Given the description of an element on the screen output the (x, y) to click on. 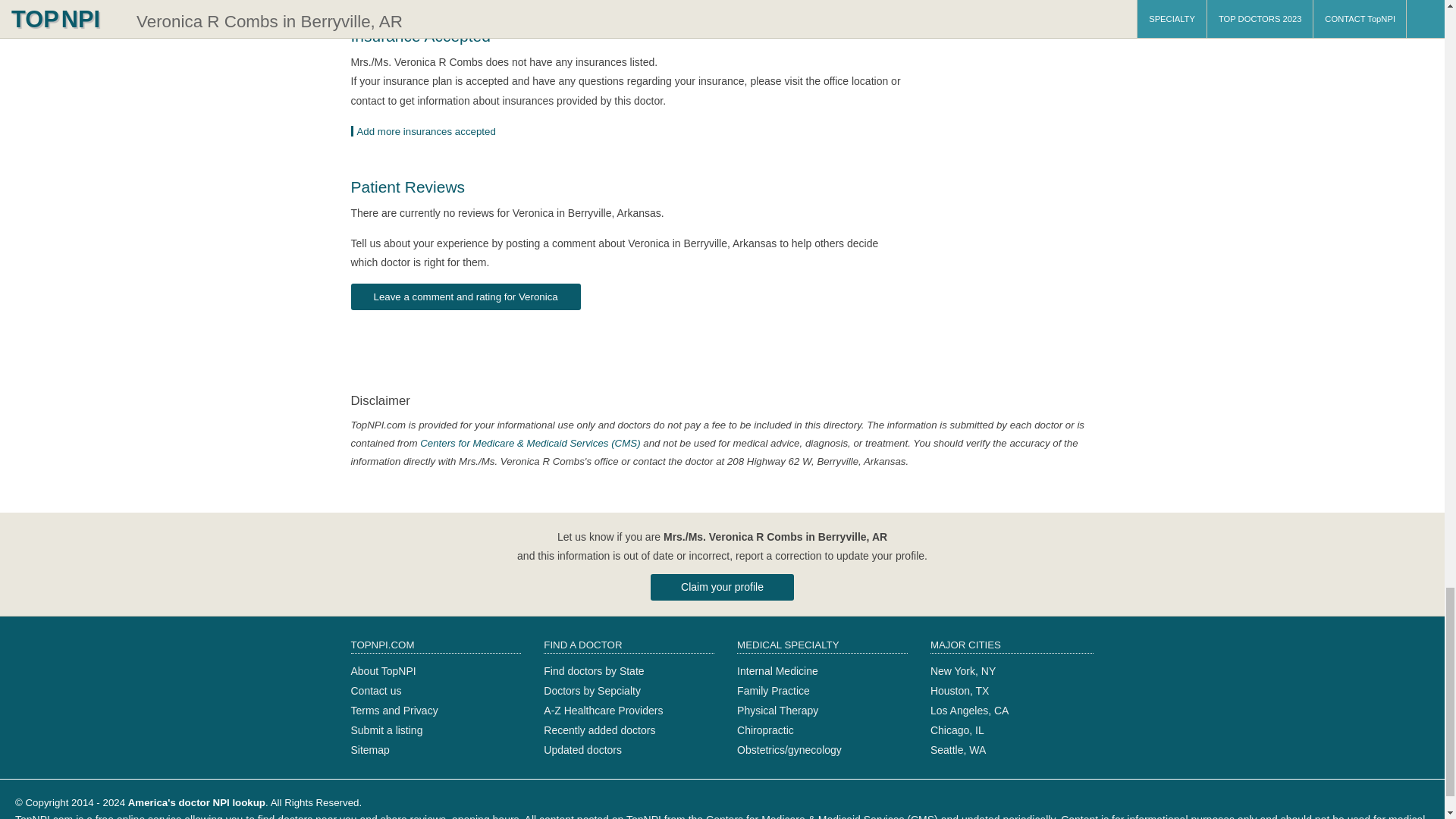
Leave a comment and rating for Veronica (464, 296)
Add more insurances accepted (428, 131)
Claim your profile (721, 587)
Update location (428, 131)
